Given the description of an element on the screen output the (x, y) to click on. 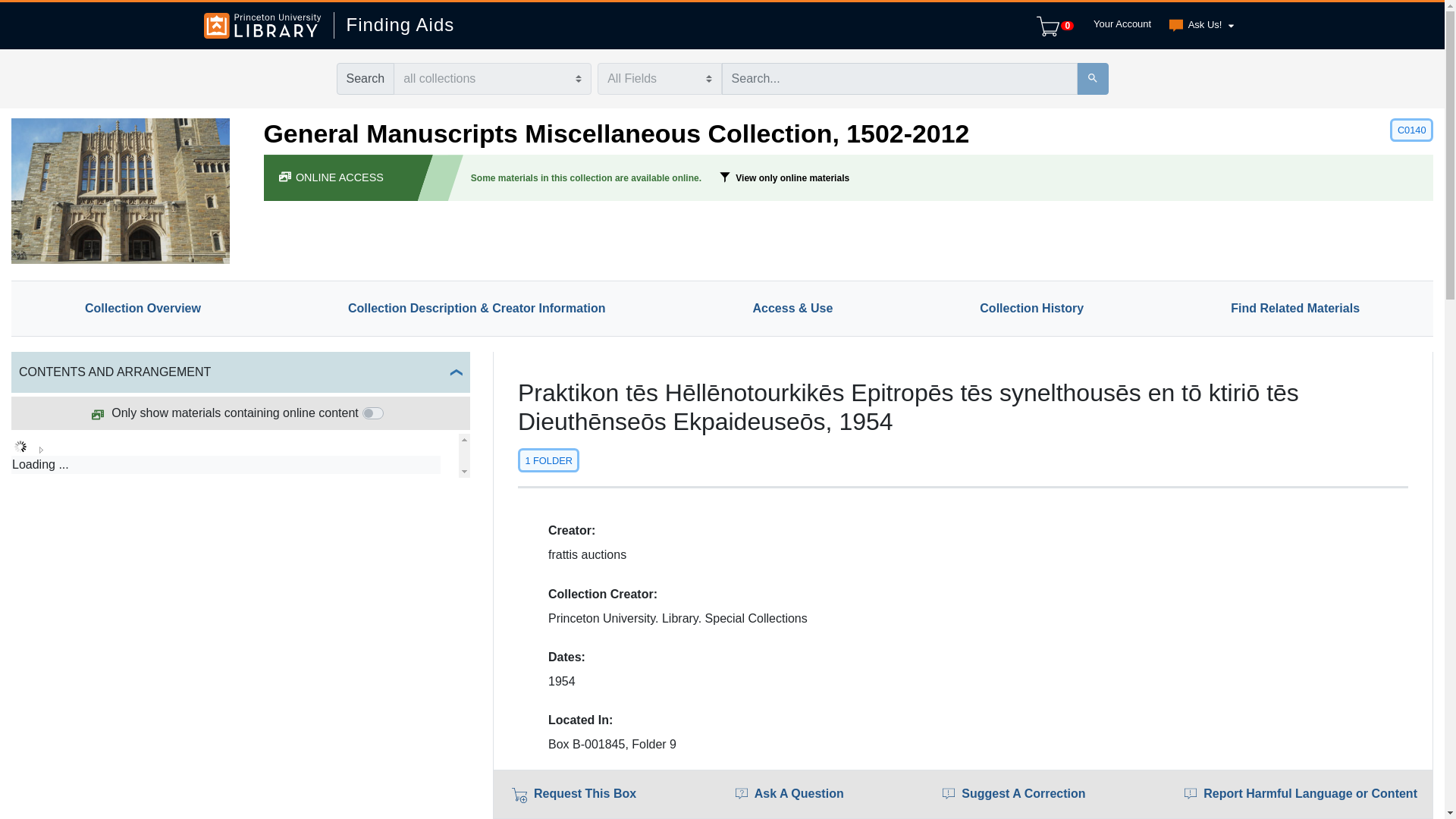
Targeted search options (658, 79)
Finding Aids (393, 25)
Your Account (1119, 23)
Skip to search (37, 9)
Your Account (1119, 23)
General Manuscripts Miscellaneous Collection, 1502-2012 (615, 133)
Finding Aids (393, 25)
Loading ... (226, 464)
Ask Us! (1198, 25)
Collection History (1031, 308)
